Given the description of an element on the screen output the (x, y) to click on. 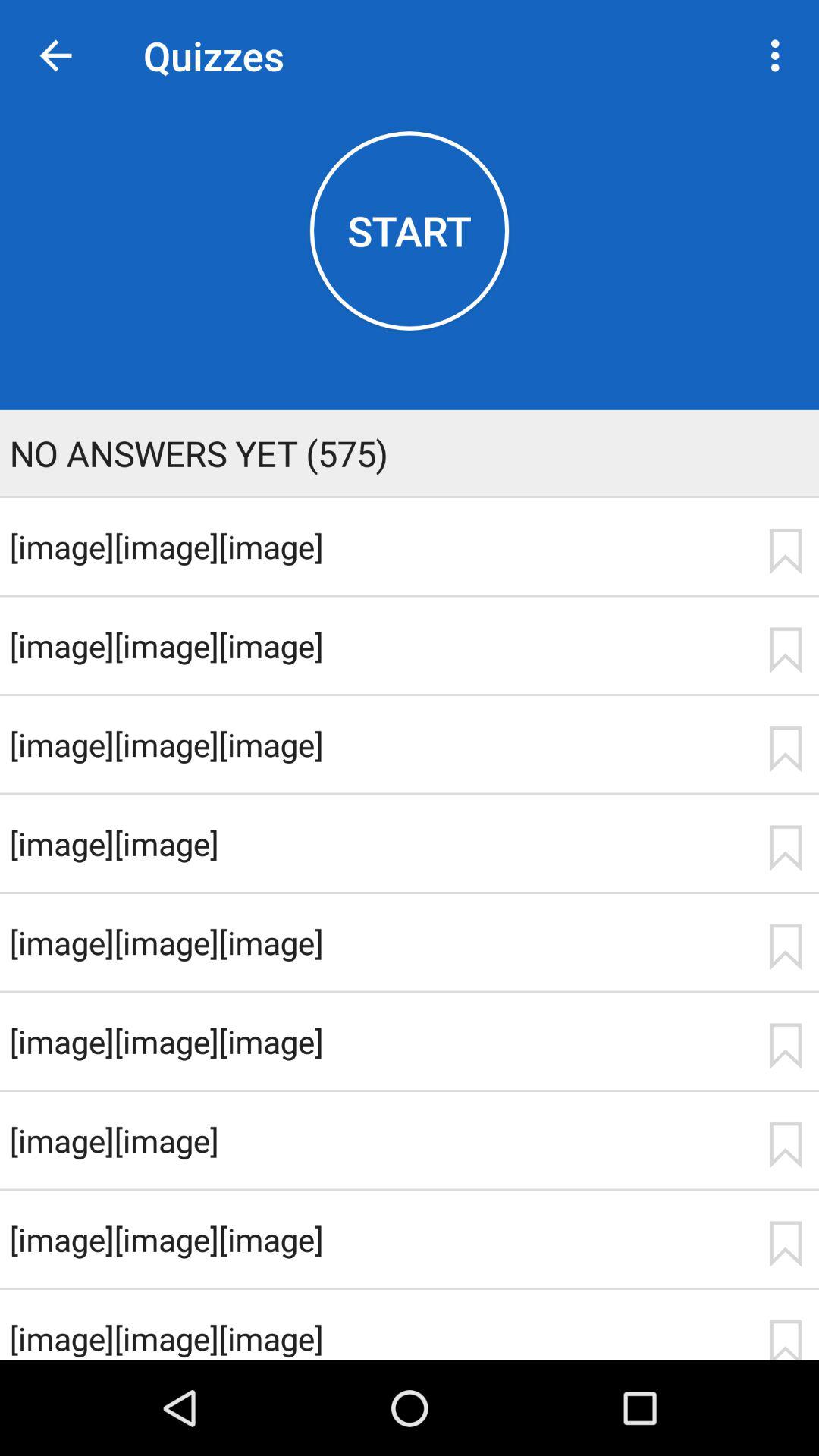
click on first bookmark icon from top (785, 551)
click on 8th row symbol right of  imageimageimage (785, 1244)
click on the save button at bottom right (785, 1339)
